Given the description of an element on the screen output the (x, y) to click on. 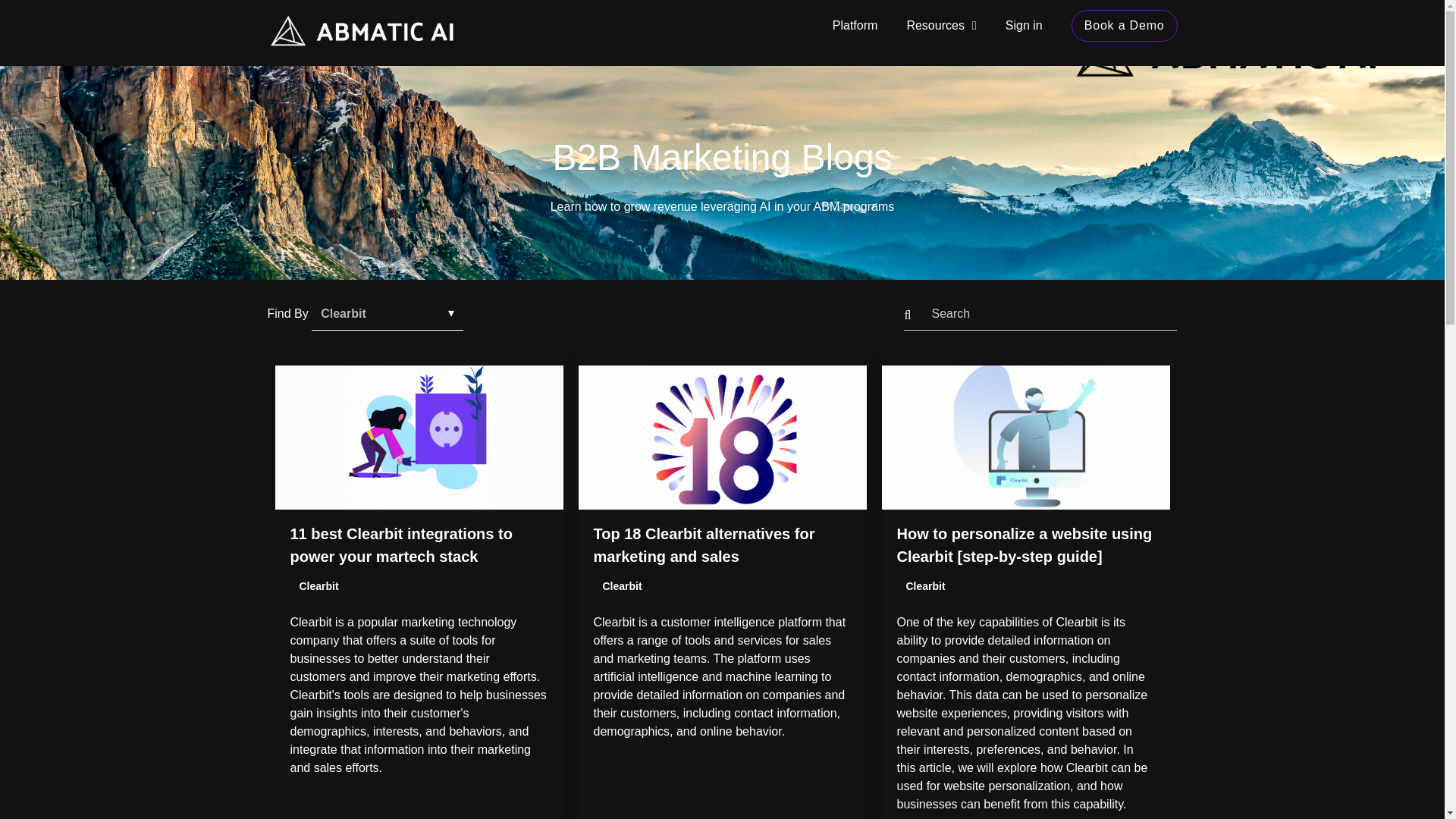
READ MORE (721, 768)
Platform (854, 25)
Clearbit (924, 586)
Book a Demo (1124, 25)
11 best Clearbit integrations to power your martech stack (400, 545)
READ MORE (418, 804)
Clearbit (318, 586)
Top 18 Clearbit alternatives for marketing and sales (702, 545)
Clearbit (621, 586)
Sign in (1024, 25)
